Given the description of an element on the screen output the (x, y) to click on. 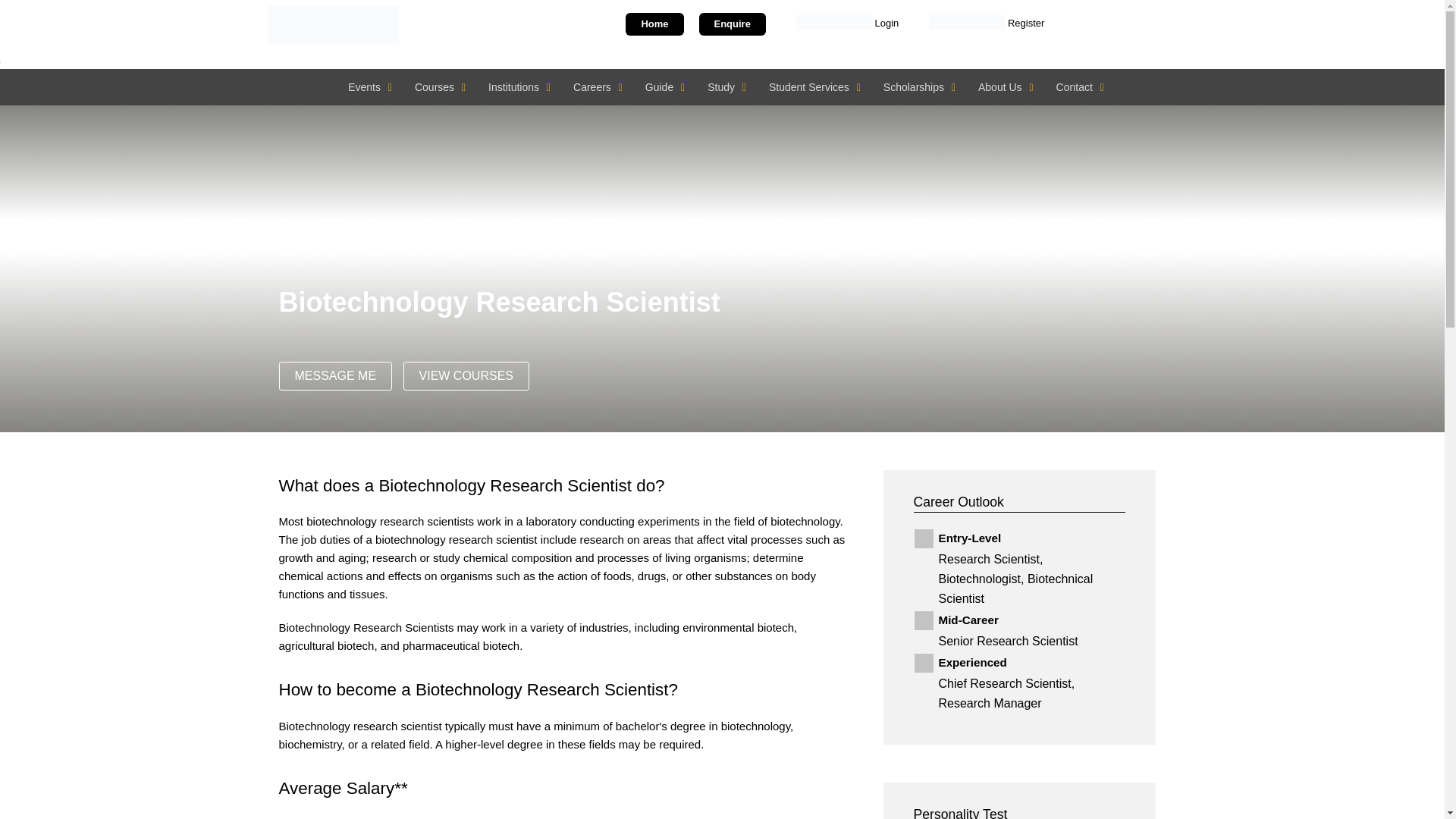
Institutions (515, 86)
Enquire (731, 24)
Home (654, 24)
